Given the description of an element on the screen output the (x, y) to click on. 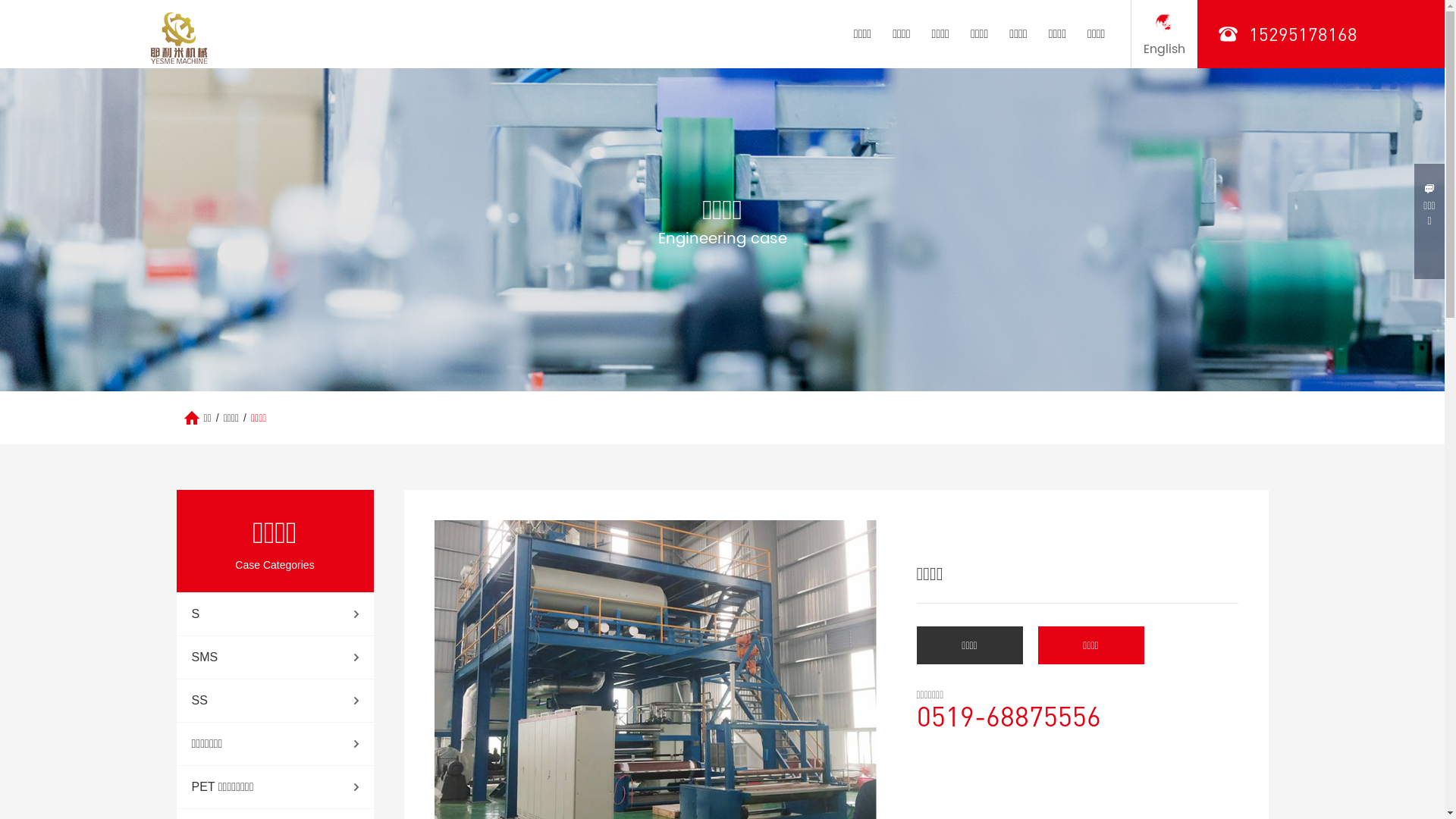
SMS Element type: text (274, 657)
0519-68875556 Element type: text (1076, 715)
SS Element type: text (274, 700)
15295178168 Element type: text (1302, 34)
S Element type: text (274, 614)
English Element type: text (1163, 34)
